Given the description of an element on the screen output the (x, y) to click on. 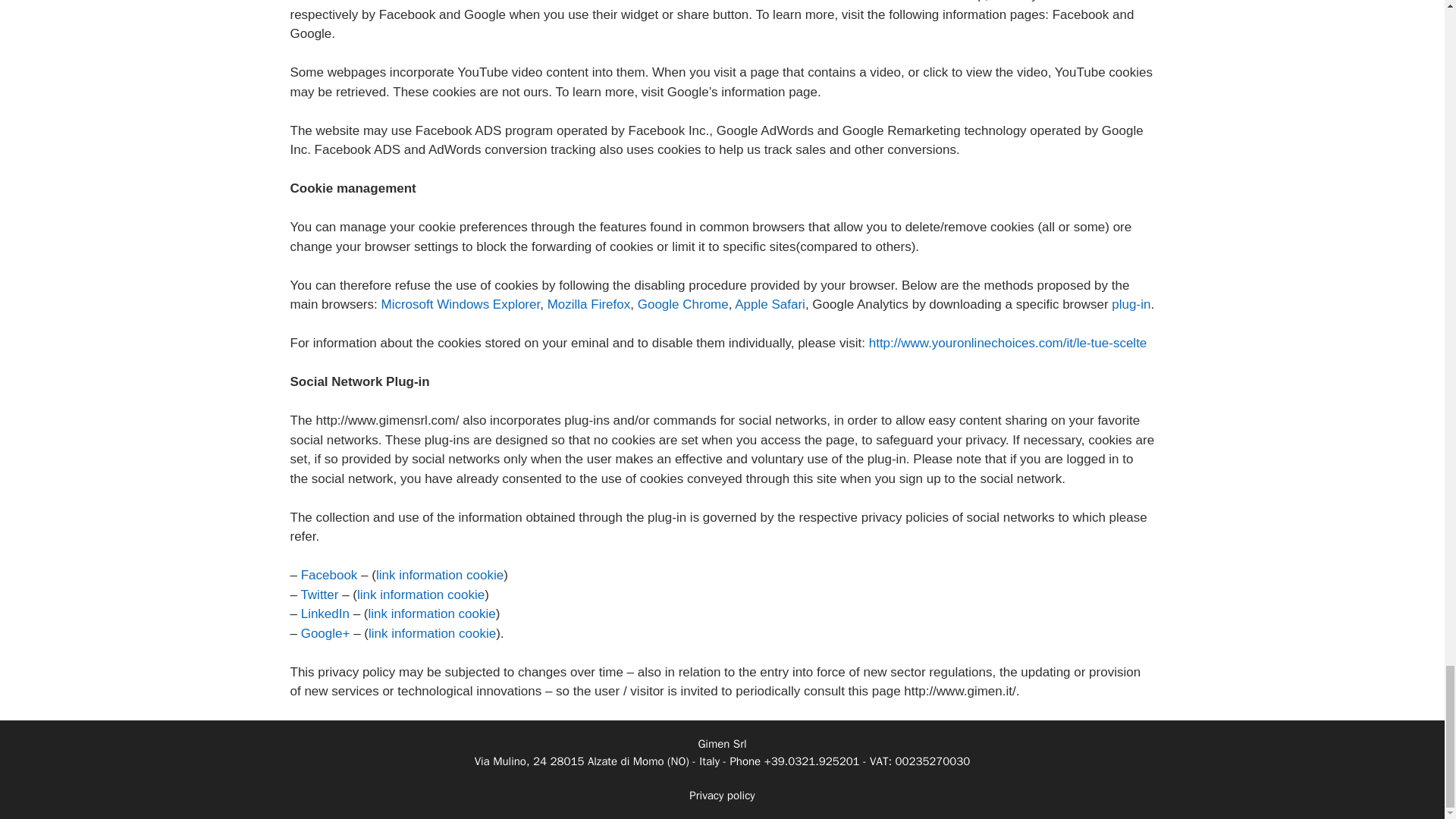
Apple Safari (770, 304)
Mozilla Firefox (588, 304)
link information cookie (439, 575)
link information cookie (432, 613)
Facebook (329, 575)
link information cookie (420, 594)
link information cookie (432, 632)
Microsoft Windows Explorer (460, 304)
Privacy policy (721, 794)
Google Chrome (683, 304)
